Given the description of an element on the screen output the (x, y) to click on. 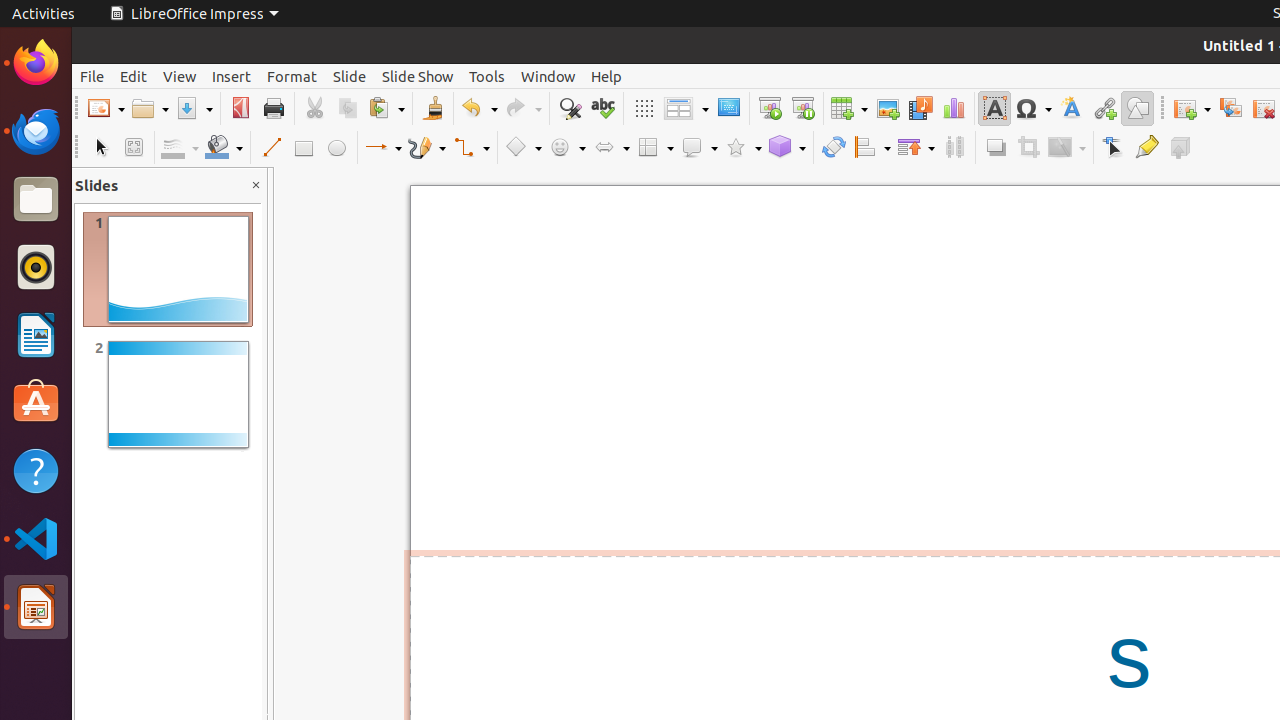
Visual Studio Code Element type: push-button (36, 538)
Filter Element type: push-button (1067, 147)
Slide Element type: menu (349, 76)
Line Element type: push-button (270, 147)
Insert Element type: menu (231, 76)
